Given the description of an element on the screen output the (x, y) to click on. 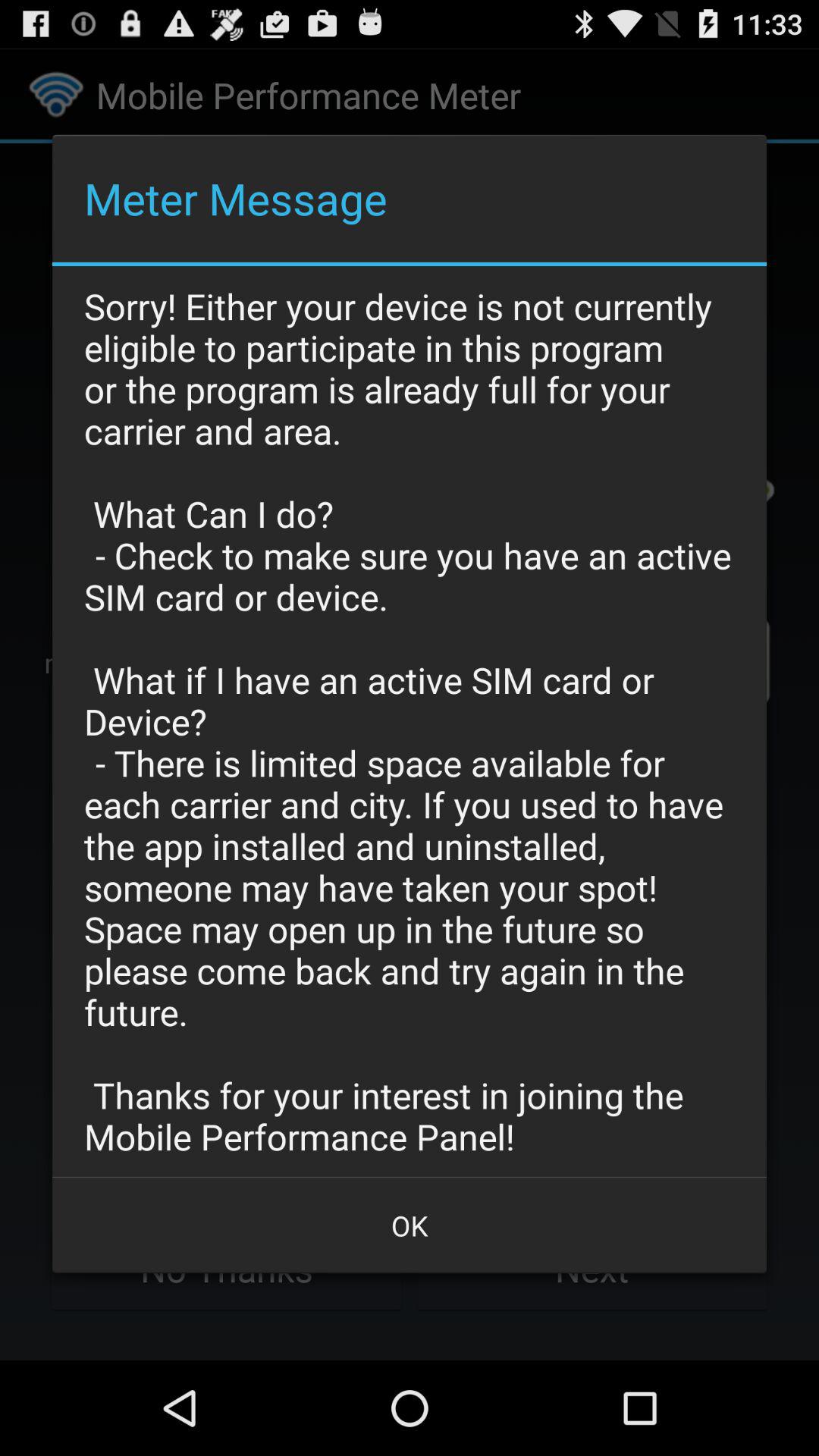
open the item at the bottom (409, 1225)
